Given the description of an element on the screen output the (x, y) to click on. 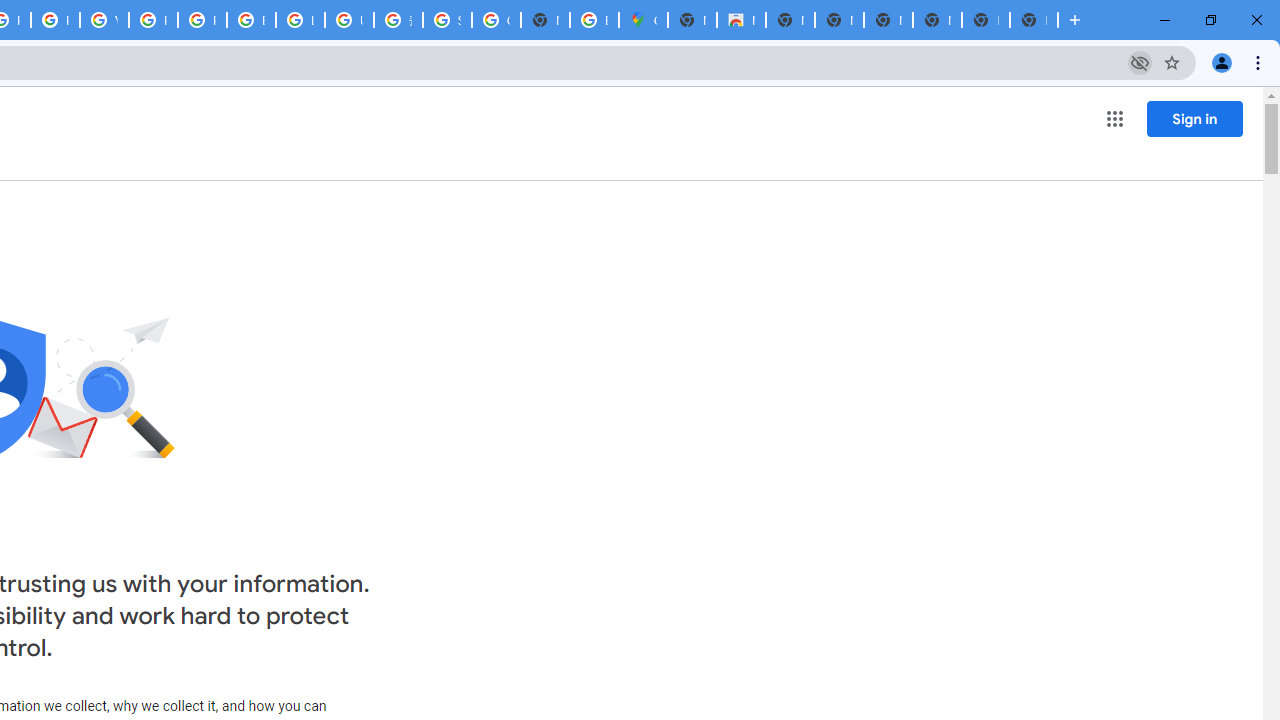
New Tab (692, 20)
Third-party cookies blocked (1139, 62)
Google Maps (643, 20)
Browse Chrome as a guest - Computer - Google Chrome Help (251, 20)
YouTube (104, 20)
